Given the description of an element on the screen output the (x, y) to click on. 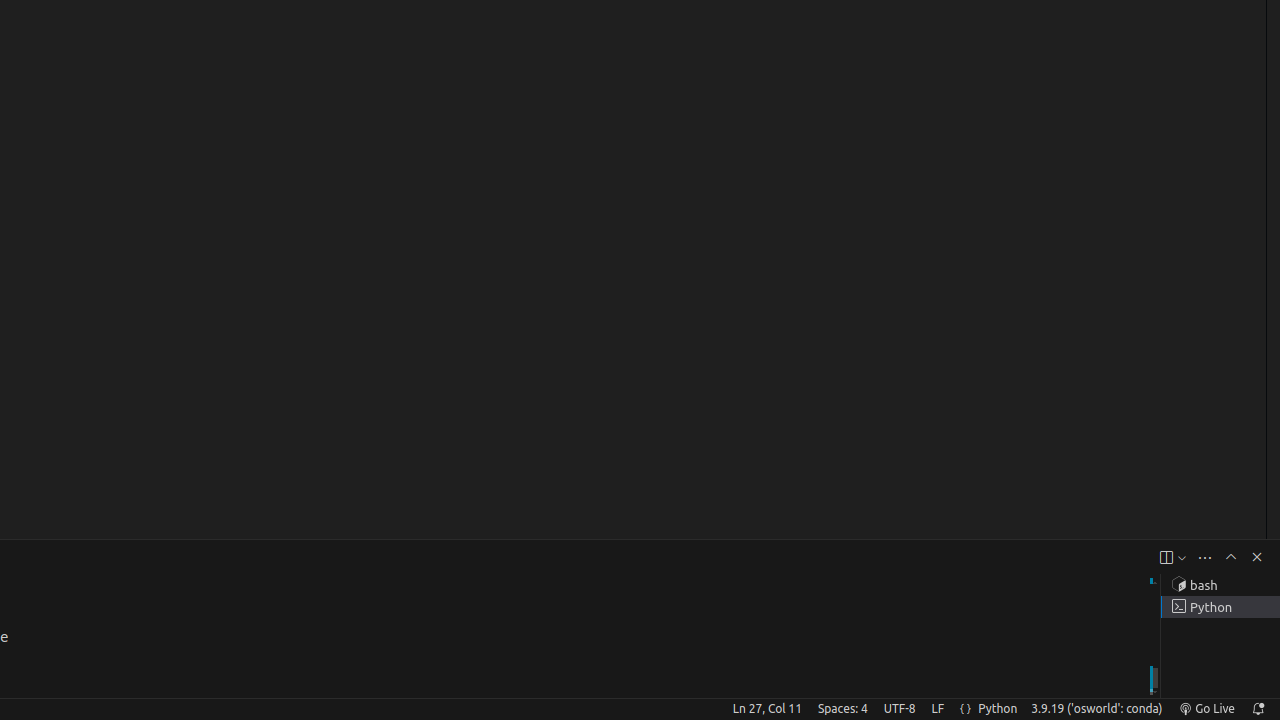
Spaces: 4 Element type: push-button (842, 709)
LF Element type: push-button (938, 709)
UTF-8 Element type: push-button (899, 709)
3.9.19 ('osworld': conda), ~/anaconda3/envs/osworld/bin/python Element type: push-button (1097, 709)
New Terminal (Ctrl+Shift+`) [Alt] Split Terminal (Ctrl+Shift+5) Element type: push-button (1166, 557)
